Given the description of an element on the screen output the (x, y) to click on. 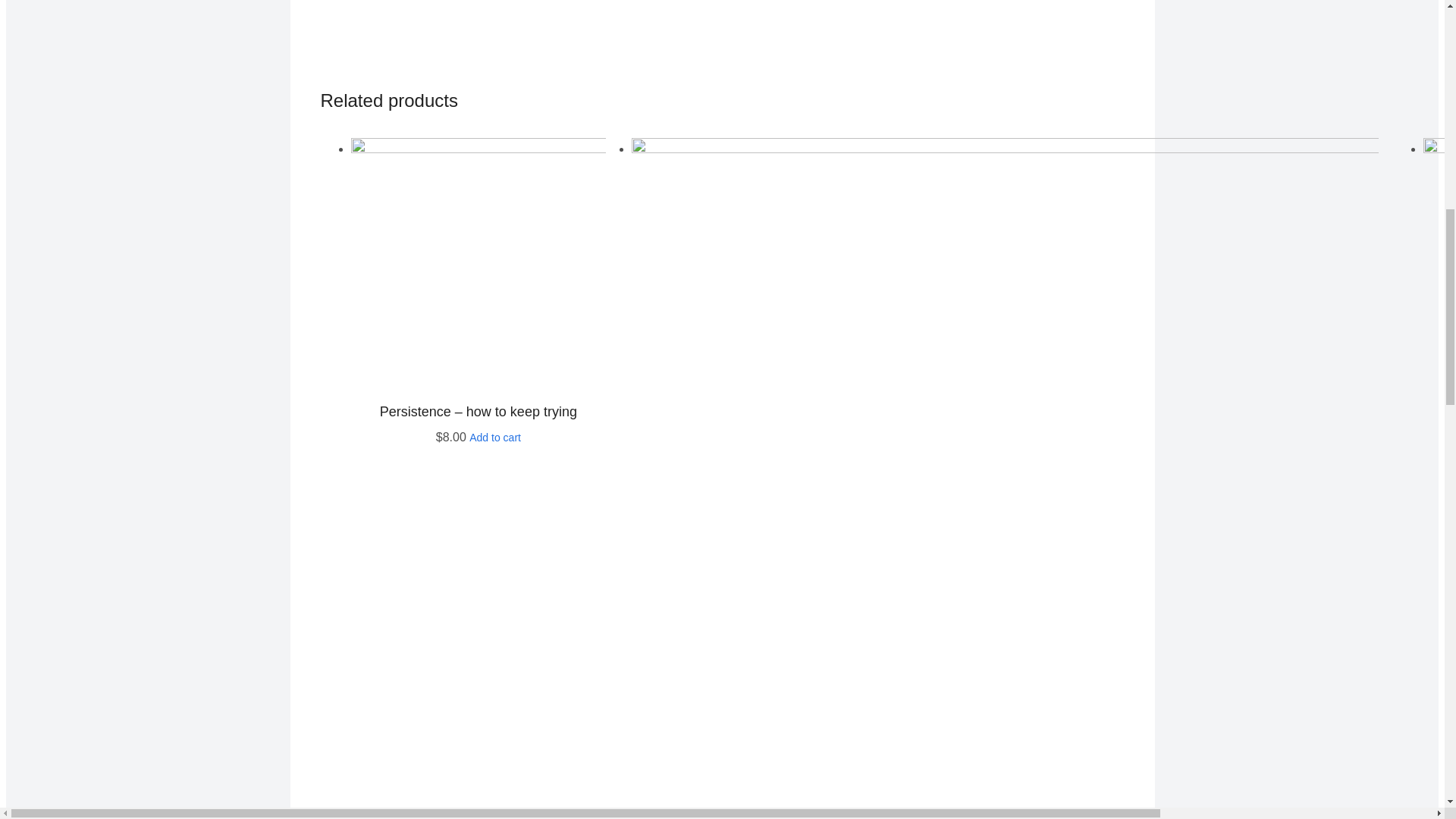
Add to cart (494, 437)
